Given the description of an element on the screen output the (x, y) to click on. 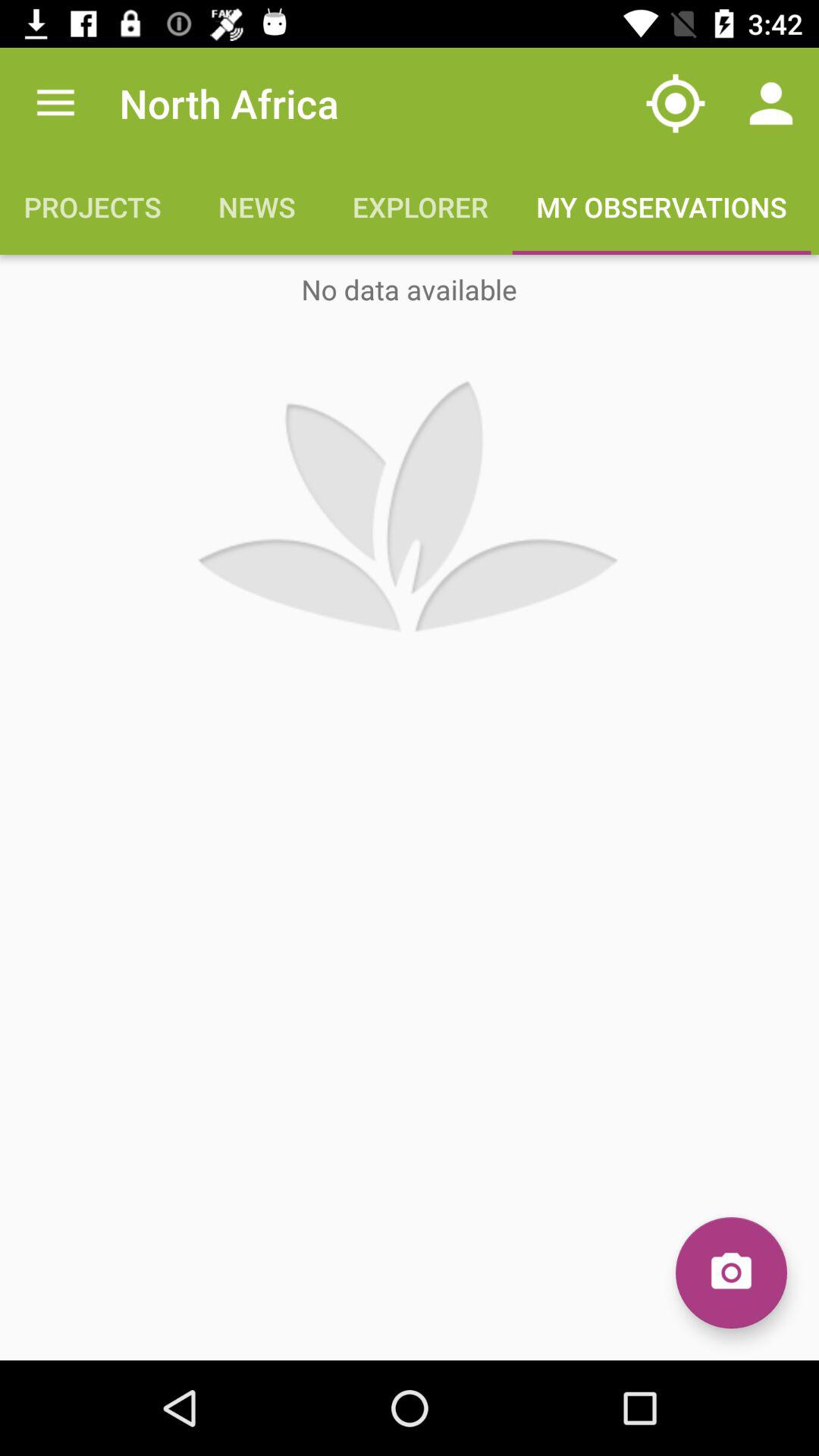
turn off the item next to north africa app (55, 103)
